Given the description of an element on the screen output the (x, y) to click on. 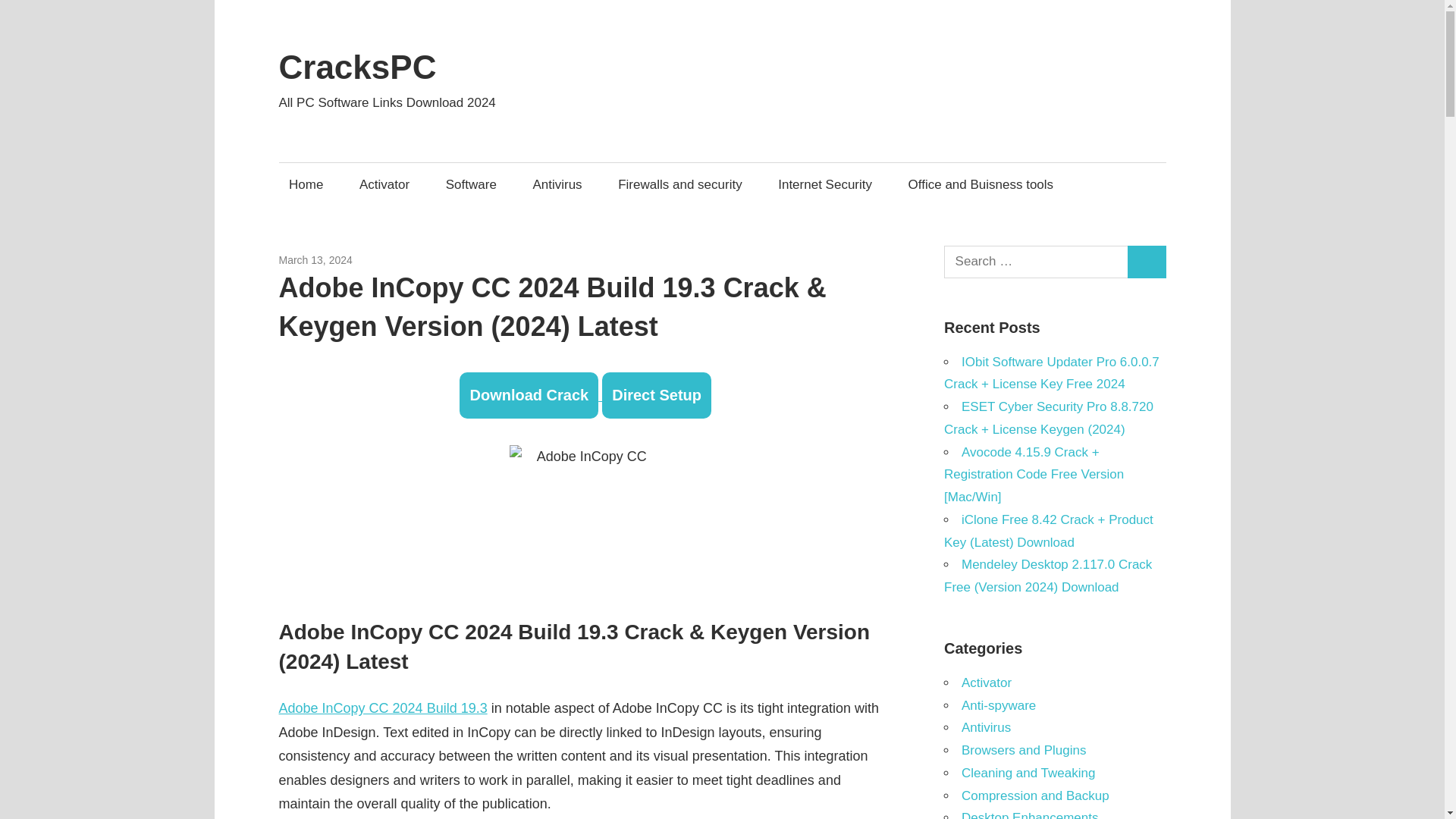
Direct Setup (656, 395)
3:13 am (315, 259)
Software (373, 259)
Search (1146, 261)
Search for: (1035, 261)
Antivirus (557, 184)
CracksPC (357, 66)
Activator (384, 184)
Firewalls and security (680, 184)
March 13, 2024 (315, 259)
Download Crack Direct Setup (585, 395)
Internet Security (825, 184)
Home (306, 184)
Download Crack (529, 395)
Software (470, 184)
